Given the description of an element on the screen output the (x, y) to click on. 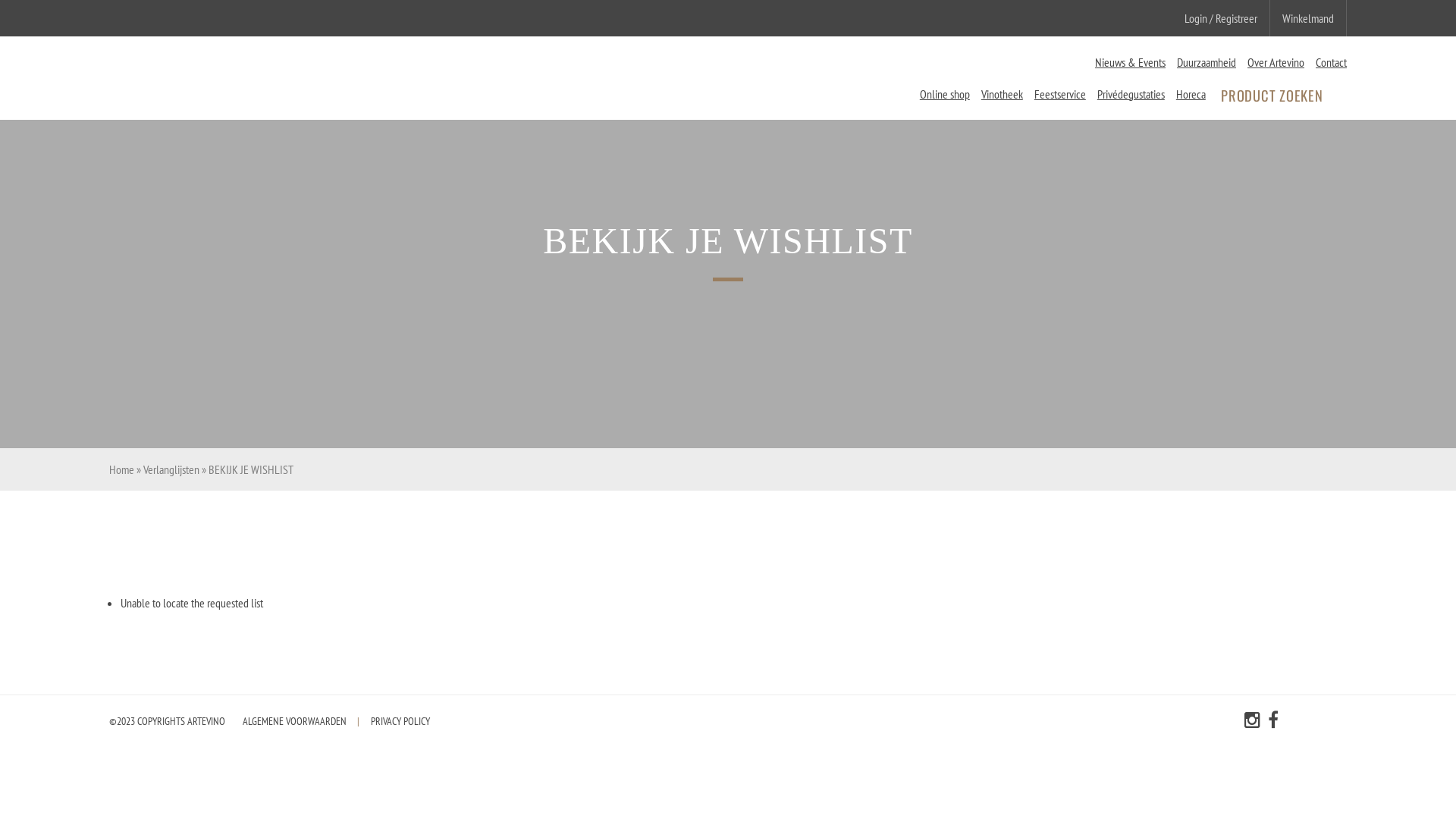
PRIVACY POLICY Element type: text (399, 720)
Verlanglijsten Element type: text (171, 468)
Contact Element type: text (1330, 61)
Horeca Element type: text (1190, 93)
Home Element type: text (121, 468)
ALGEMENE VOORWAARDEN Element type: text (294, 720)
Nieuws & Events Element type: text (1130, 61)
Zoek Element type: text (1338, 95)
Login / Registreer Element type: text (1220, 17)
Duurzaamheid Element type: text (1206, 61)
TAURUSANDEAGLE Element type: text (1319, 721)
Over Artevino Element type: text (1275, 61)
Vinotheek Element type: text (1001, 93)
Feestservice Element type: text (1059, 93)
Winkelmand Element type: text (1307, 17)
Online shop Element type: text (944, 93)
